Given the description of an element on the screen output the (x, y) to click on. 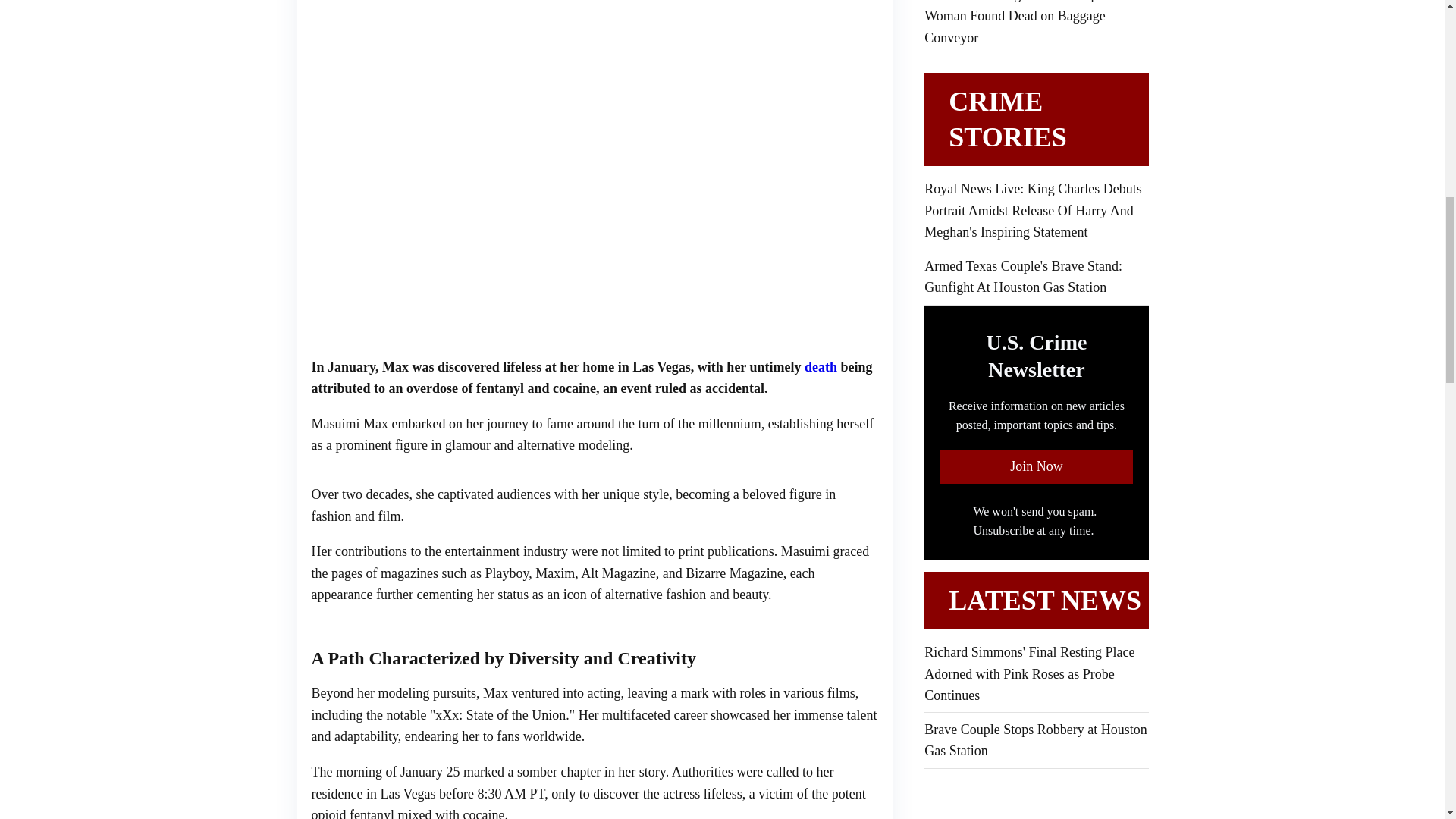
Join Now (1036, 466)
death (821, 366)
Brave Couple Stops Robbery at Houston Gas Station (1036, 740)
